Given the description of an element on the screen output the (x, y) to click on. 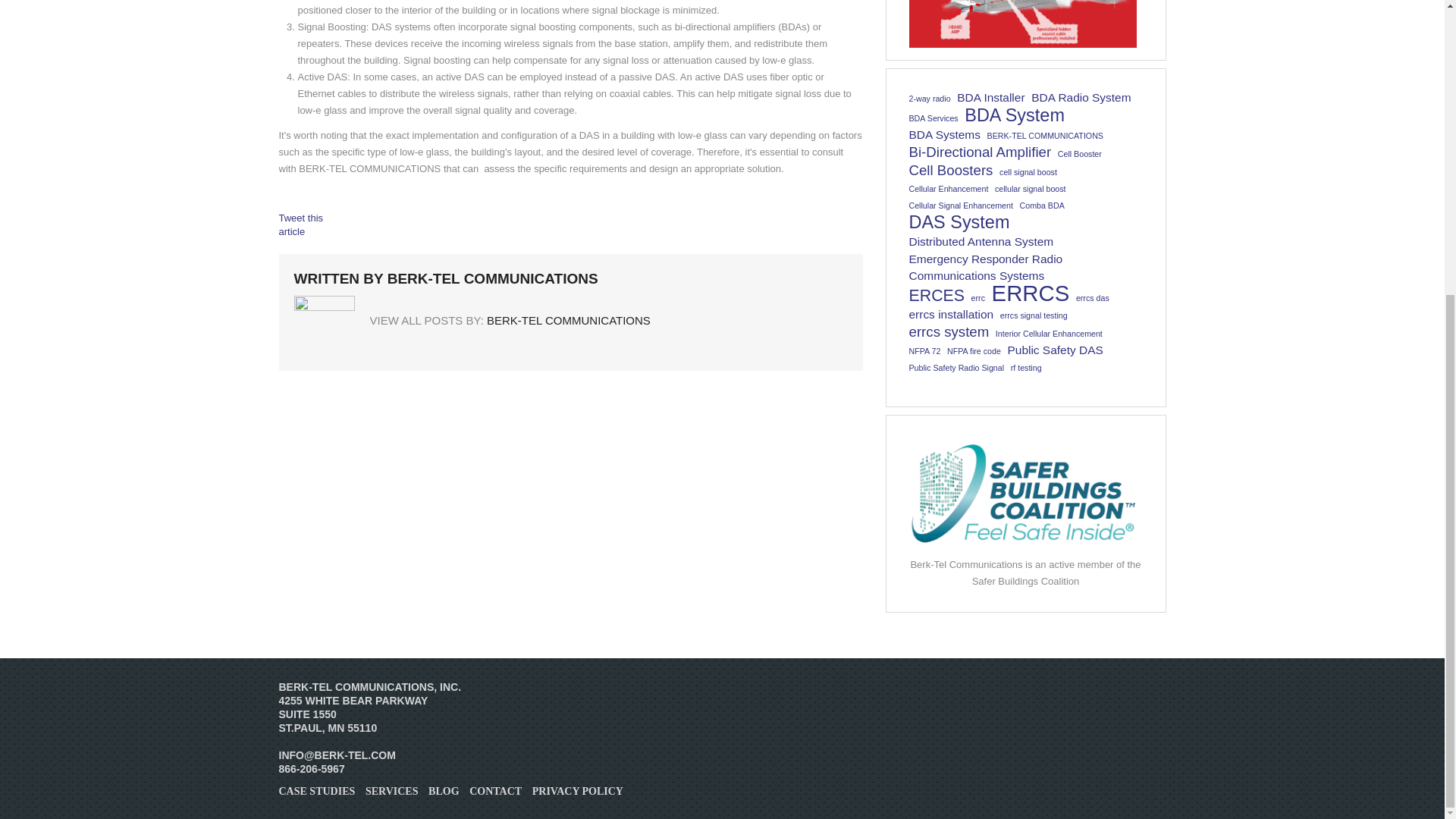
errcs system (948, 331)
errcs signal testing (1033, 315)
Posts by Berk-Tel Communications (568, 319)
Cellular Signal Enhancement (959, 205)
BDA Services (933, 117)
Distributed Antenna System (980, 241)
errcs installation (950, 314)
ERCES (935, 295)
Cell Boosters (950, 170)
errcs das (1092, 297)
